Given the description of an element on the screen output the (x, y) to click on. 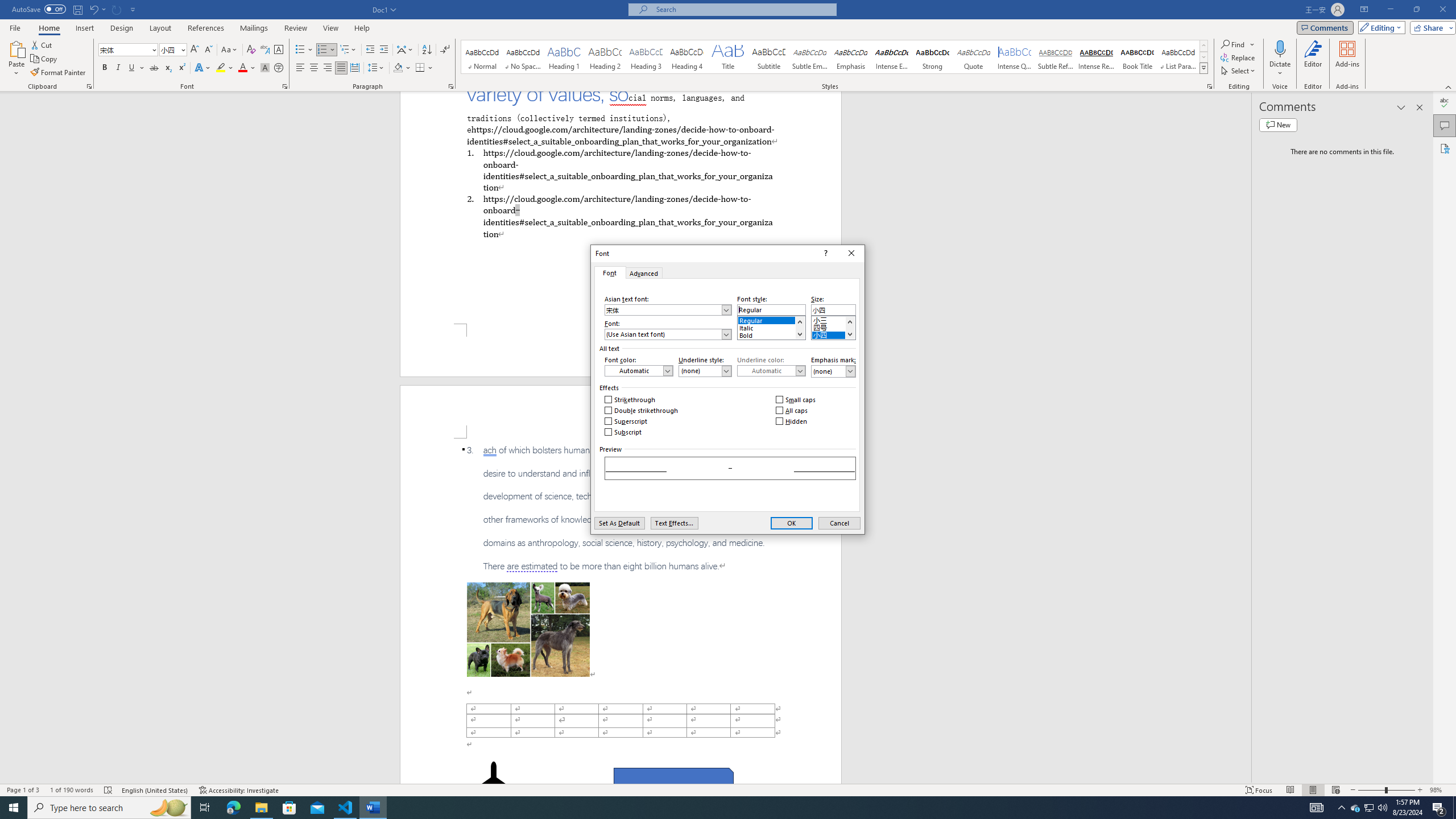
Asian text font: (668, 309)
Font Color (246, 67)
Multilevel List (347, 49)
Focus  (1258, 790)
Insert (83, 28)
AutomationID: 4105 (1316, 807)
Styles... (1209, 85)
Class: MsoCommandBar (728, 789)
Undo Apply Quick Style (92, 9)
Underline Color (Automatic) (771, 370)
Editor (1312, 58)
Set As Default (619, 522)
Quote (973, 56)
Font (609, 272)
Bullets (300, 49)
